Given the description of an element on the screen output the (x, y) to click on. 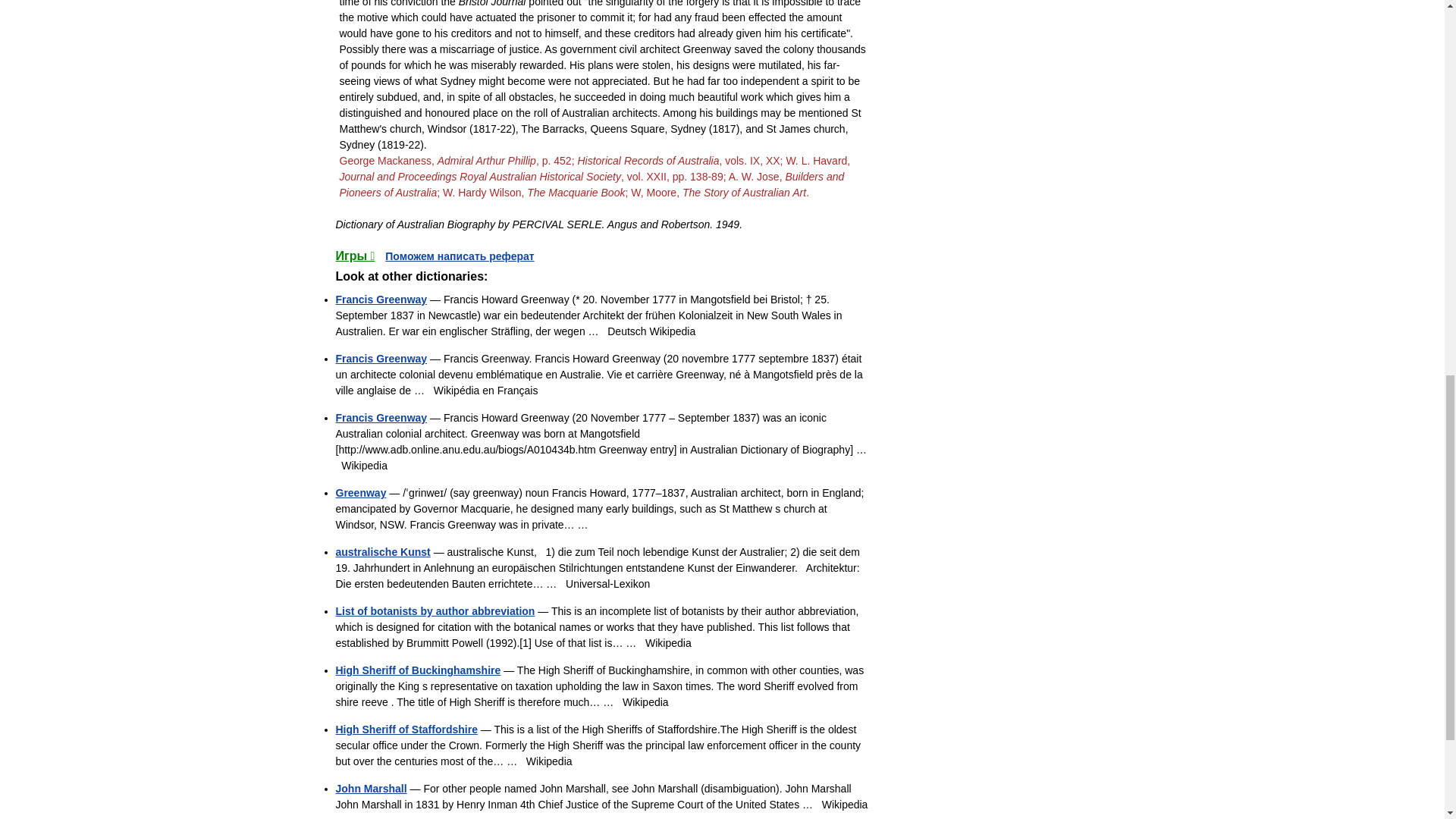
Francis Greenway (380, 358)
High Sheriff of Buckinghamshire (417, 670)
John Marshall (370, 788)
Francis Greenway (380, 417)
High Sheriff of Staffordshire (405, 729)
Francis Greenway (380, 299)
australische Kunst (381, 551)
Greenway (359, 492)
List of botanists by author abbreviation (434, 611)
